Given the description of an element on the screen output the (x, y) to click on. 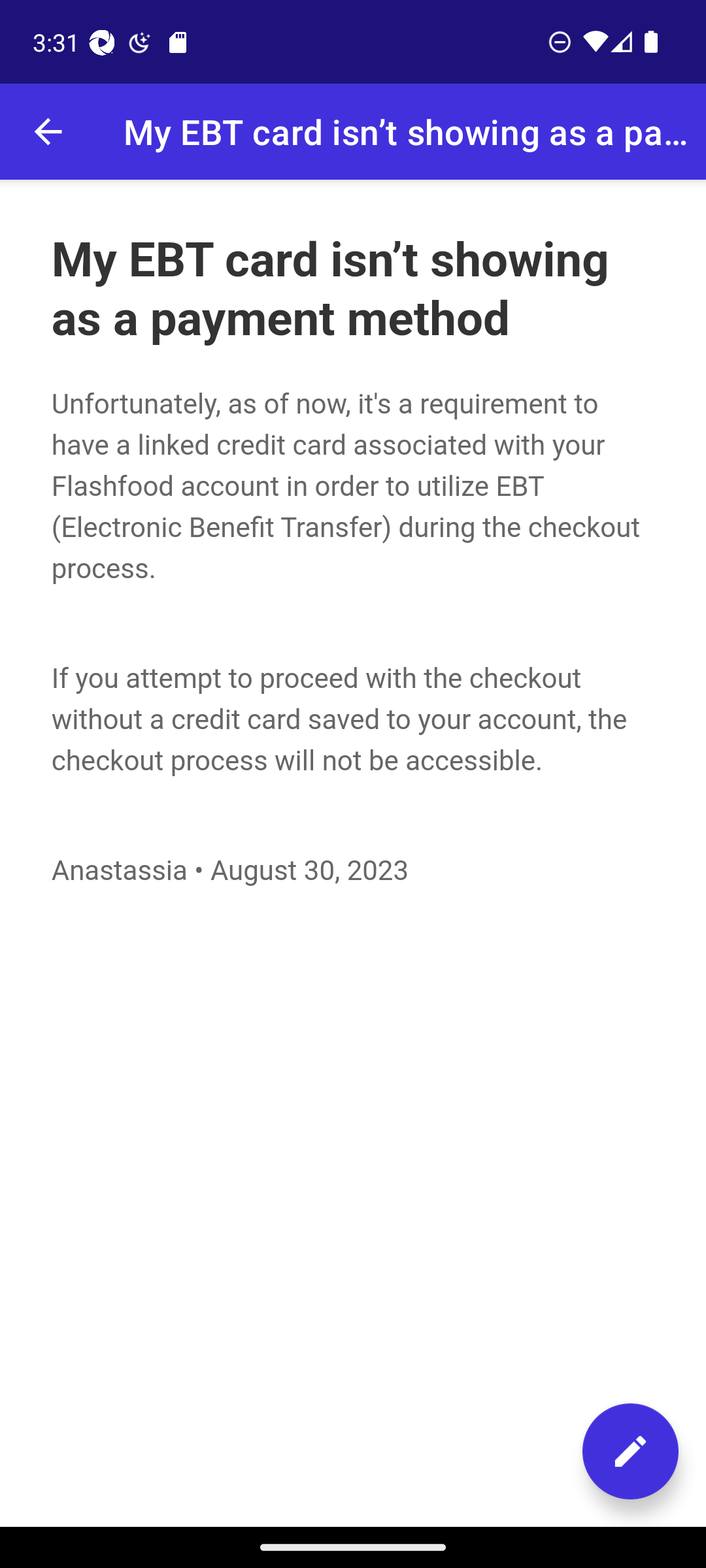
Navigate up (48, 131)
Contact us (630, 1451)
